Given the description of an element on the screen output the (x, y) to click on. 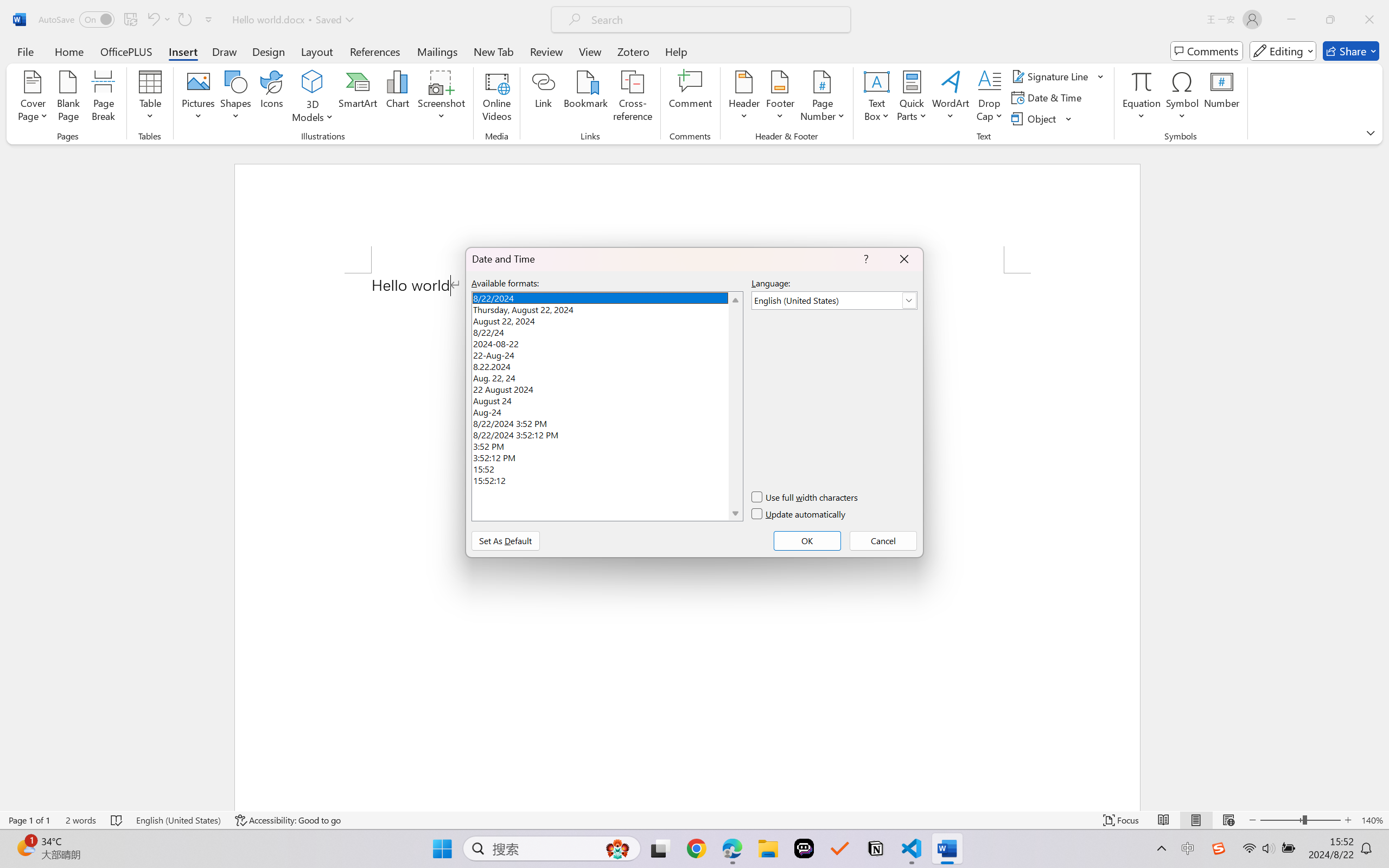
Footer (780, 97)
Bookmark... (585, 97)
3:52 PM (606, 444)
Close (1369, 19)
Zoom 140% (1372, 819)
Link (543, 97)
Screenshot (441, 97)
3D Models (312, 81)
References (375, 51)
Minimize (1291, 19)
Zotero (632, 51)
Update automatically (799, 513)
Save (130, 19)
